Given the description of an element on the screen output the (x, y) to click on. 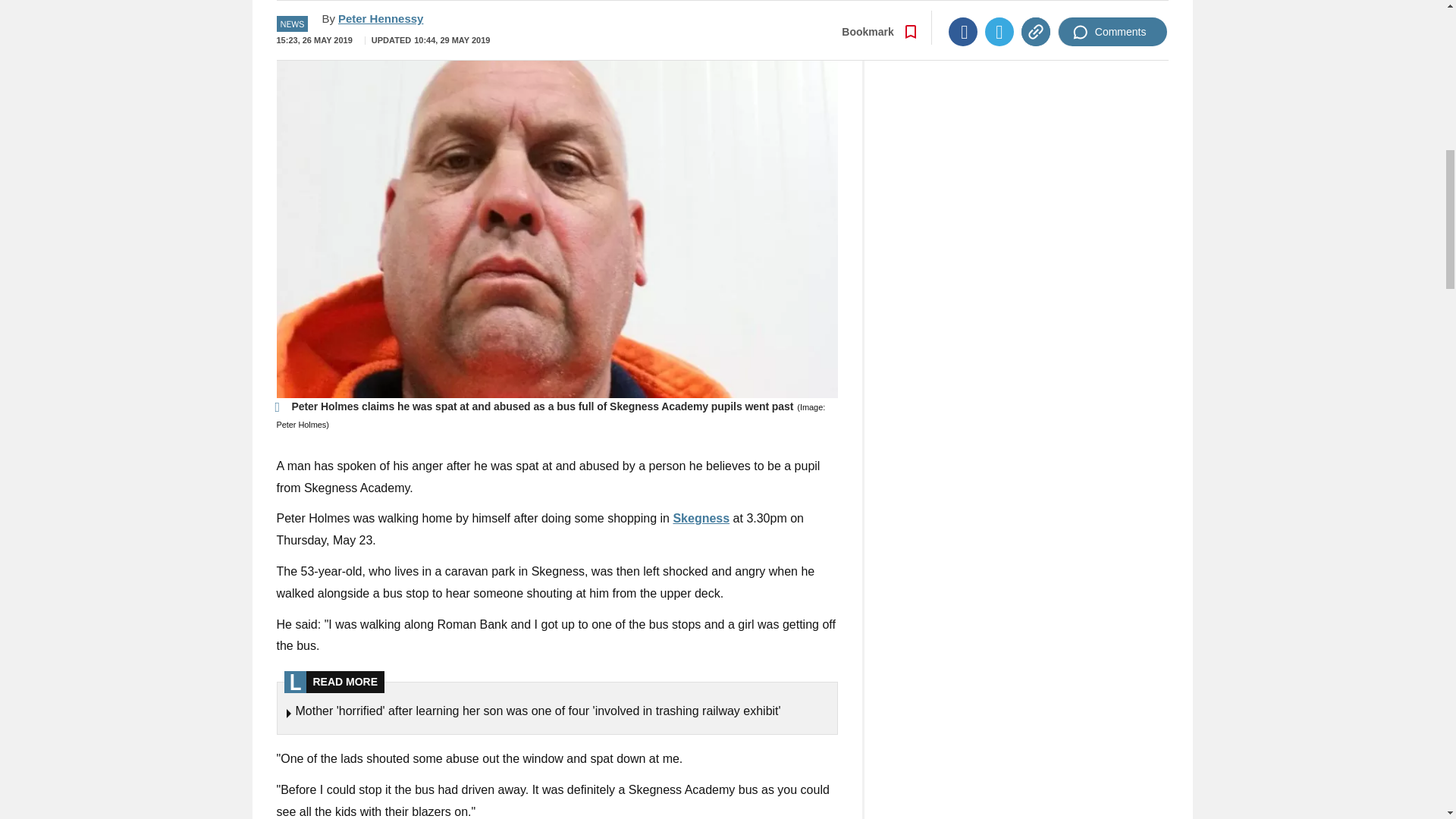
Go (730, 2)
